Given the description of an element on the screen output the (x, y) to click on. 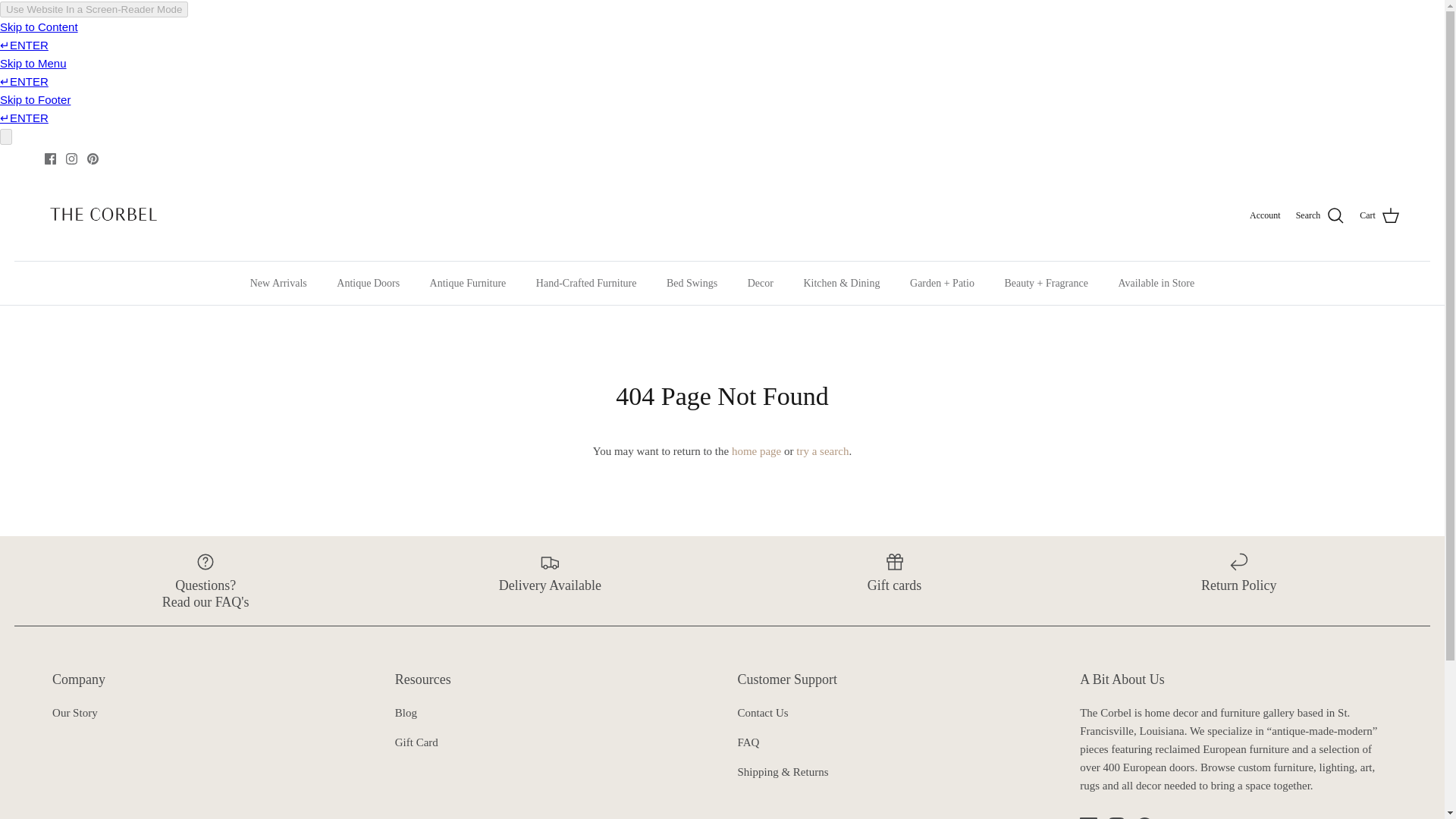
Blog (405, 712)
Decor (760, 282)
Account (1265, 215)
Pinterest (93, 158)
Shipping Policy (782, 771)
Instagram (71, 158)
Pinterest (93, 158)
Cart (1379, 216)
Instagram (71, 158)
Facebook (50, 158)
Bed Swings (691, 282)
New Arrivals (277, 282)
The Corbel Gift Card (416, 742)
